Given the description of an element on the screen output the (x, y) to click on. 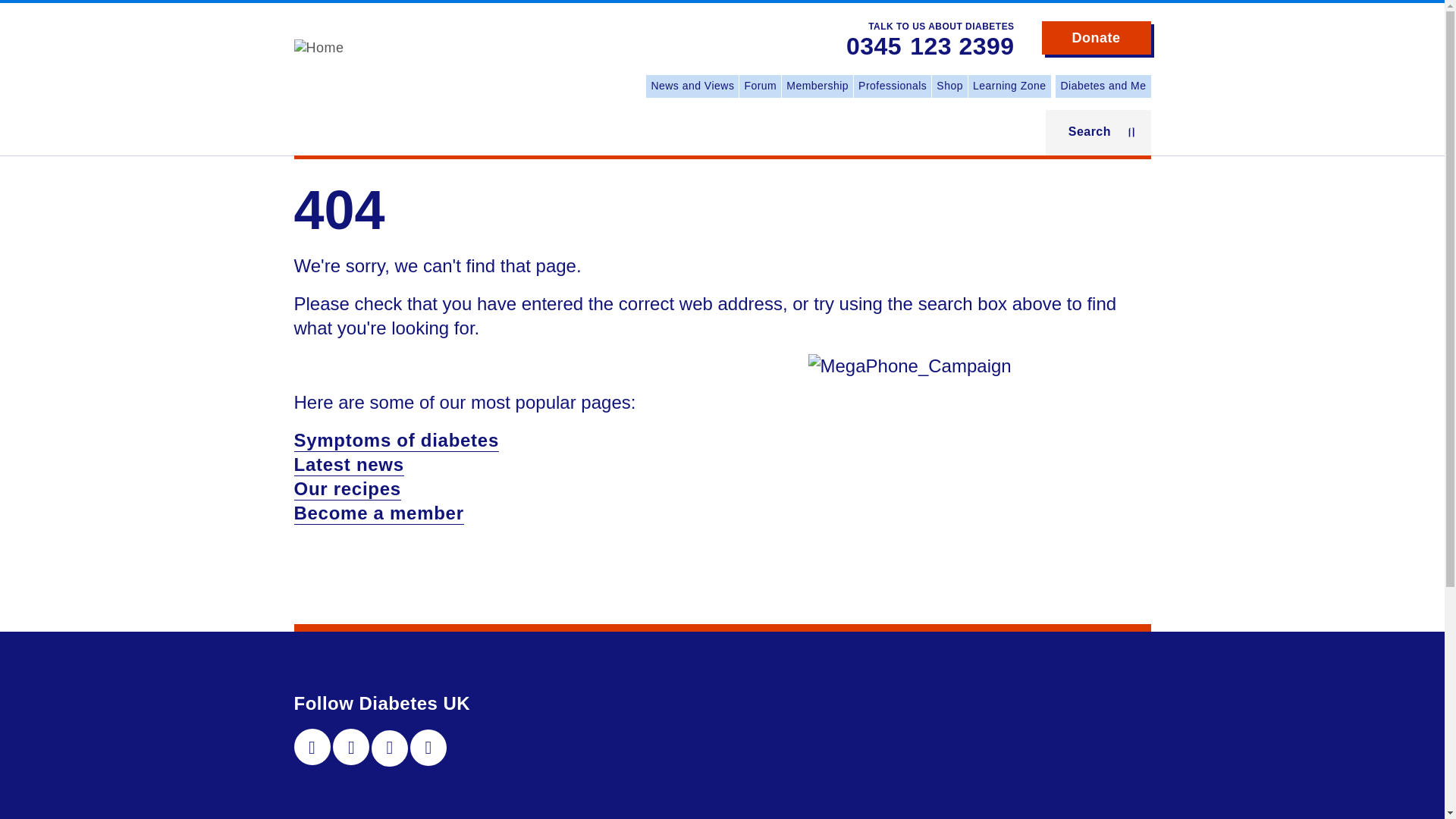
Learning Zone (1009, 86)
Diabetes and Me (1102, 86)
Our recipes (347, 489)
Shop (949, 86)
Search (1098, 132)
News and Views (692, 86)
0345123 2399 (929, 46)
Symptoms of diabetes (396, 440)
Donate (1096, 37)
Forum (759, 86)
Latest news (349, 464)
Membership (817, 86)
Home (318, 47)
Become a member (379, 513)
Professionals (892, 86)
